Given the description of an element on the screen output the (x, y) to click on. 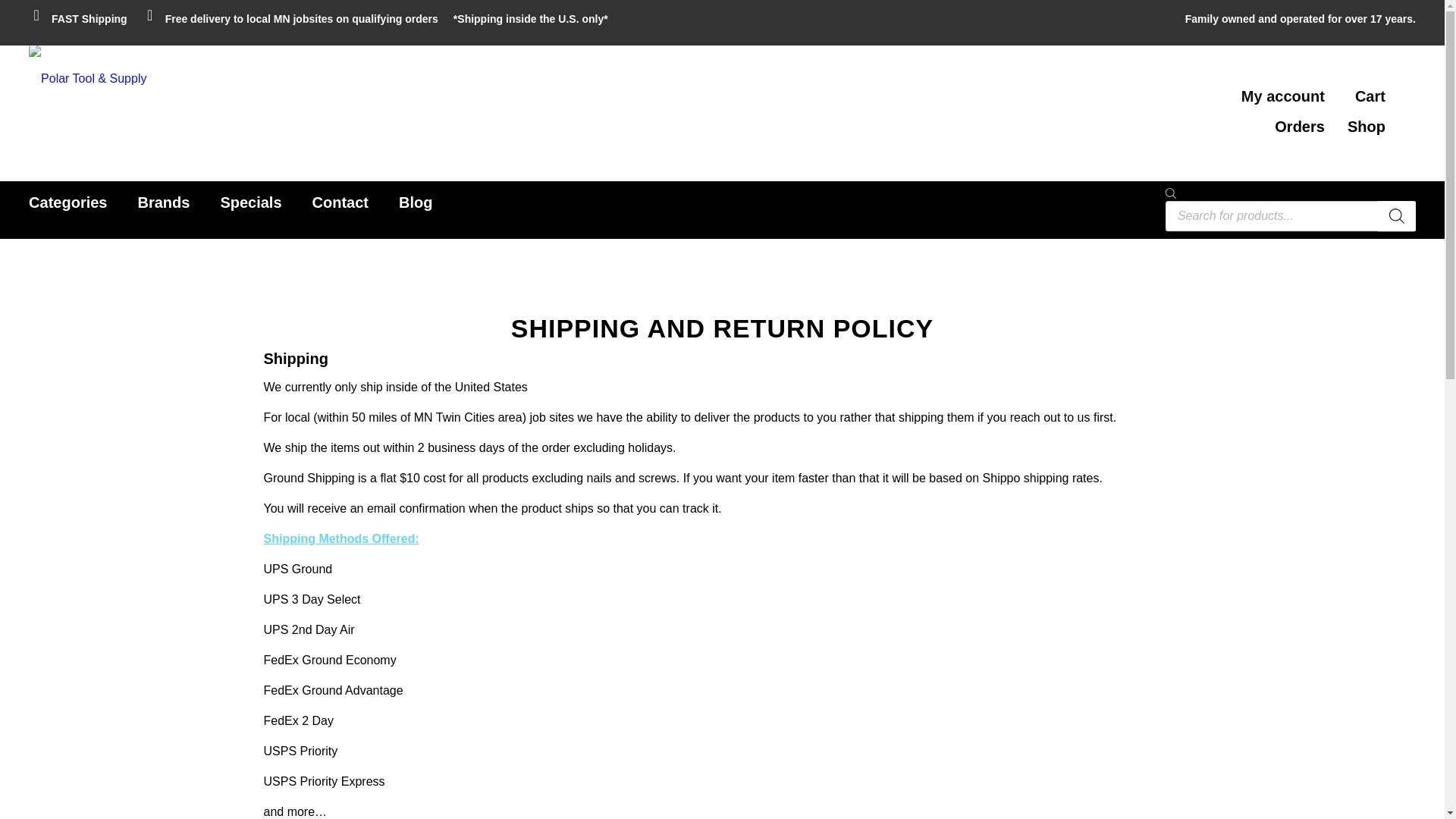
Free delivery to local MN jobsites on qualifying orders (290, 18)
FAST Shipping (78, 18)
Family owned and operated for over 17 years. (1300, 19)
